Given the description of an element on the screen output the (x, y) to click on. 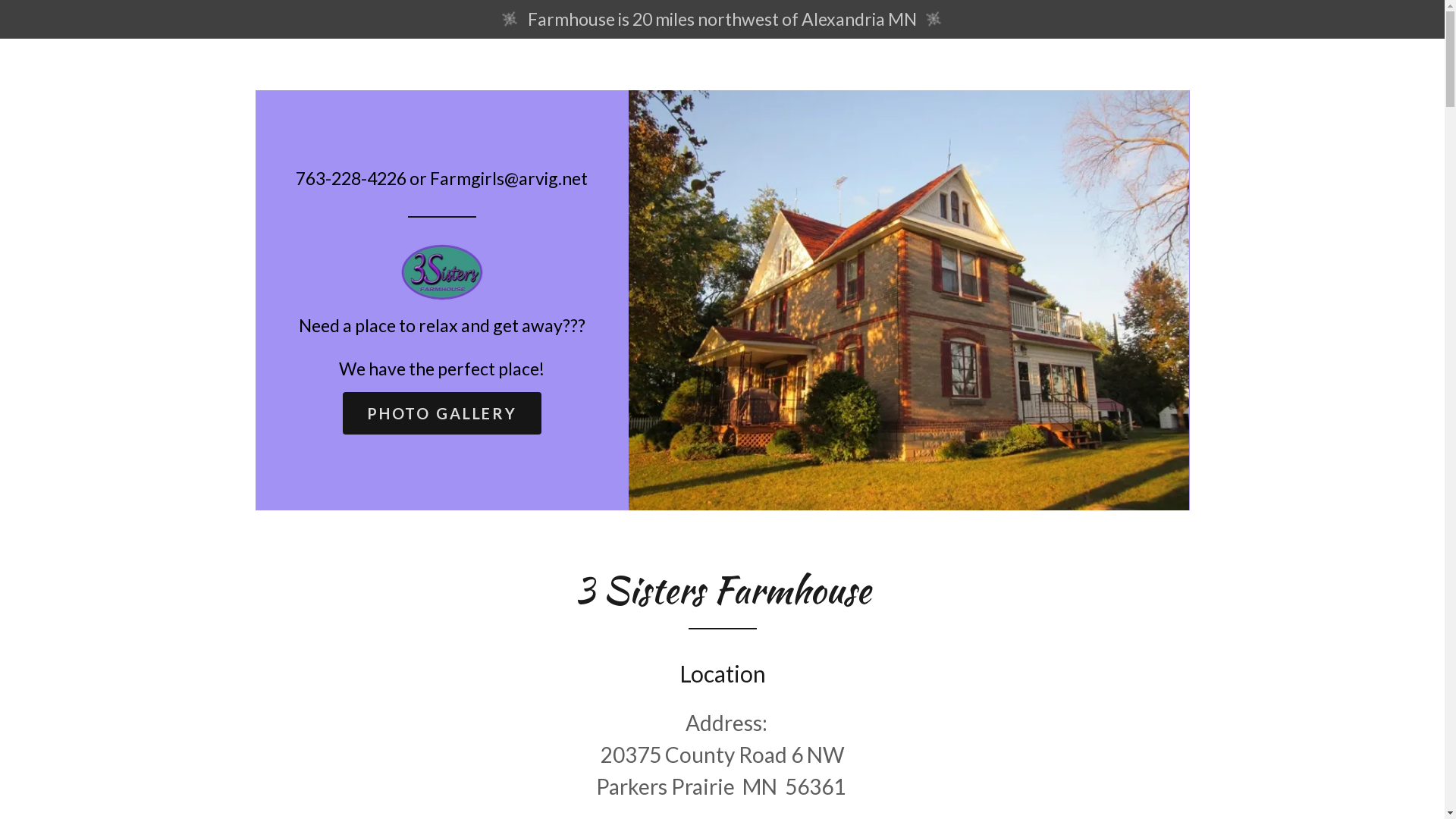
PHOTO GALLERY Element type: text (441, 413)
3 Sisters Farmhouse Element type: hover (442, 269)
763-228-4226 Element type: text (350, 177)
Farmgirls@arvig.net Element type: text (508, 177)
Farmhouse is 20 miles northwest of Alexandria MN Element type: text (722, 19)
